Given the description of an element on the screen output the (x, y) to click on. 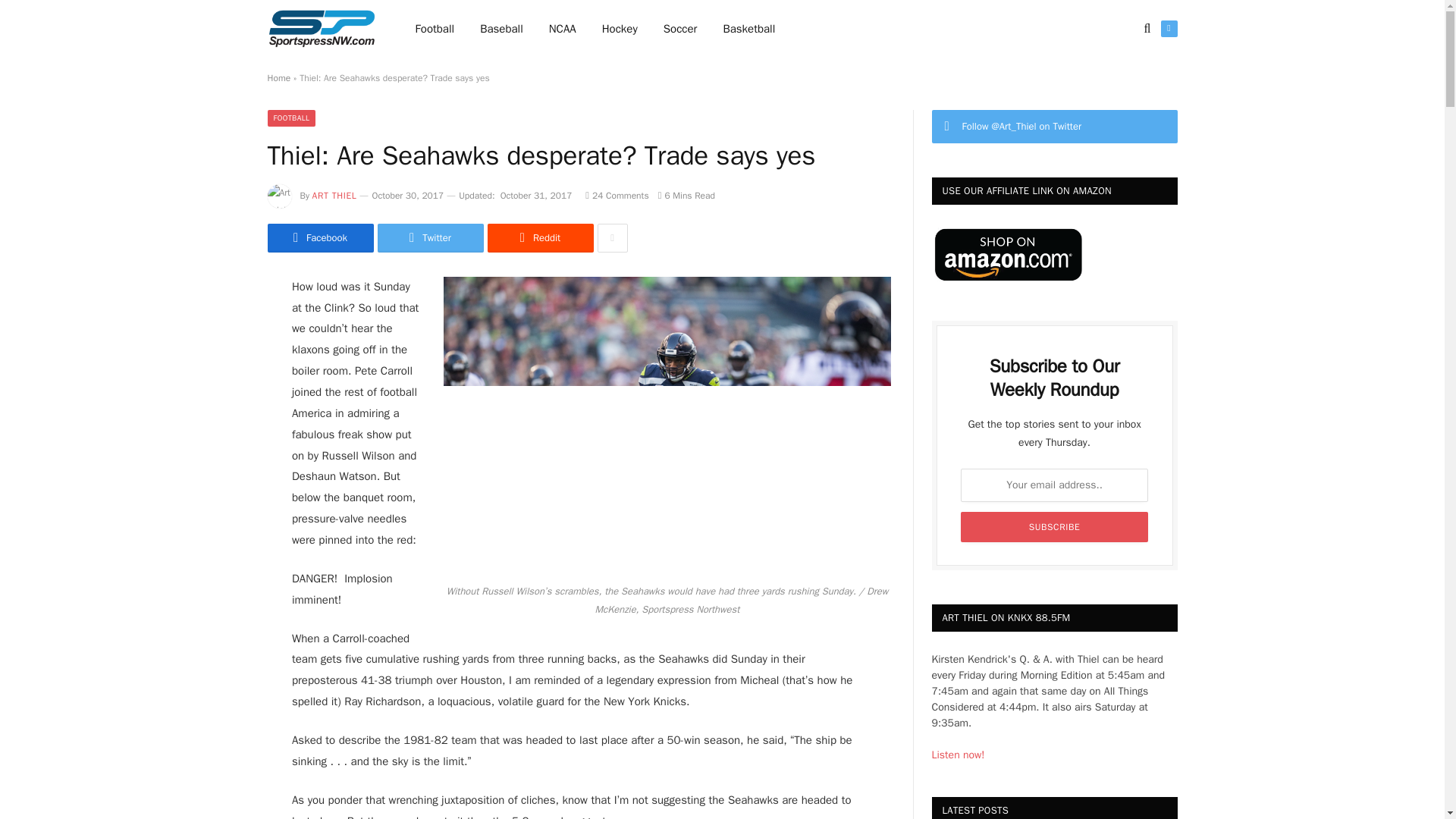
Share on Reddit (539, 237)
Reddit (539, 237)
ART THIEL (334, 195)
Hockey (619, 28)
Sportspress Northwest (320, 28)
Subscribe (1053, 526)
Twitter (430, 237)
Home (277, 78)
Football (435, 28)
Posts by Art Thiel (334, 195)
